Given the description of an element on the screen output the (x, y) to click on. 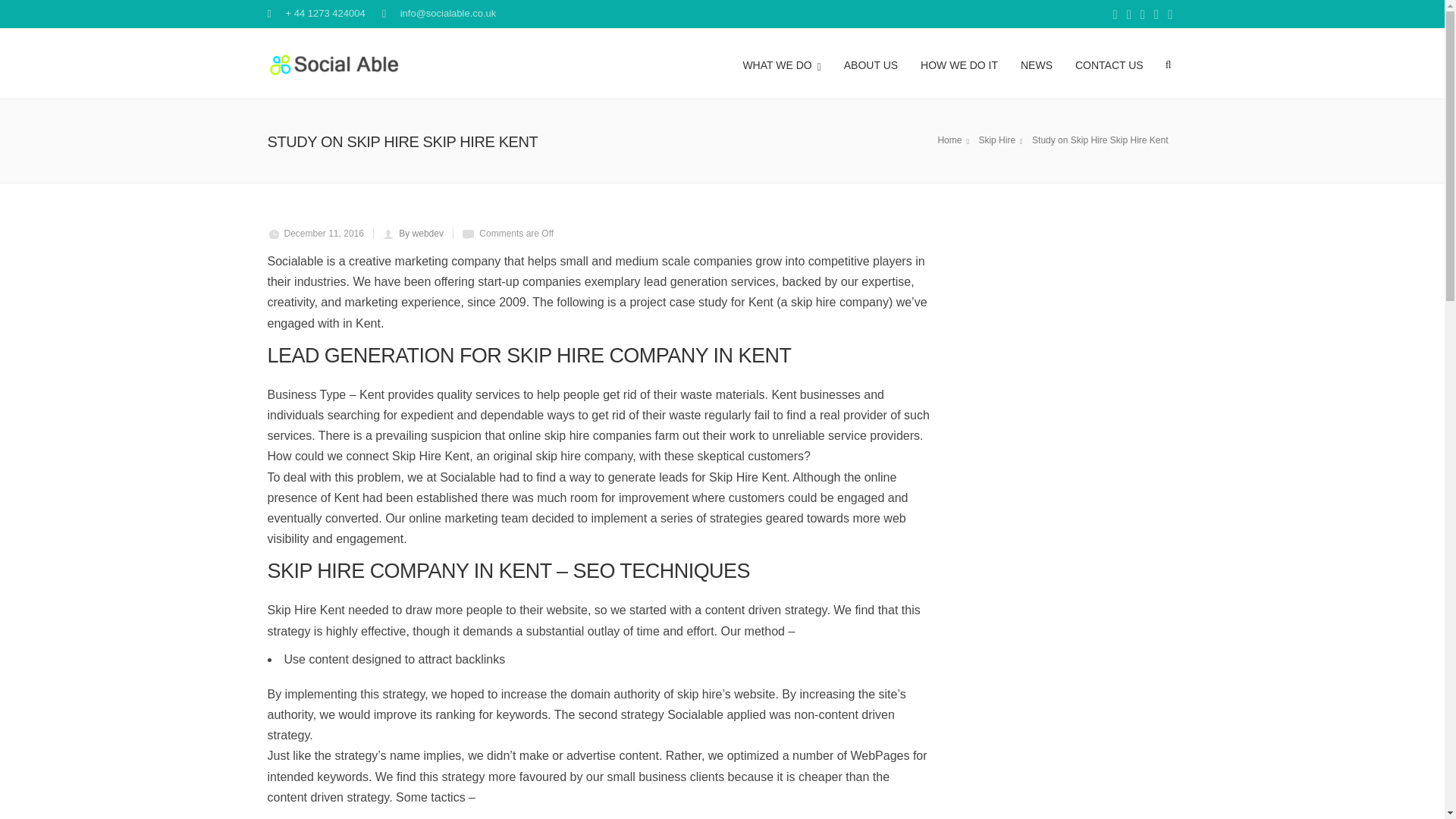
CONTACT US (1109, 63)
Study on Skip Hire Skip Hire Kent (1002, 140)
HOW WE DO IT (958, 63)
ABOUT US (870, 63)
Study on Skip Hire Skip Hire Kent (1102, 140)
Facebook (1114, 15)
Twitter (1142, 15)
WHAT WE DO (780, 63)
LinkedIn (1156, 15)
